Given the description of an element on the screen output the (x, y) to click on. 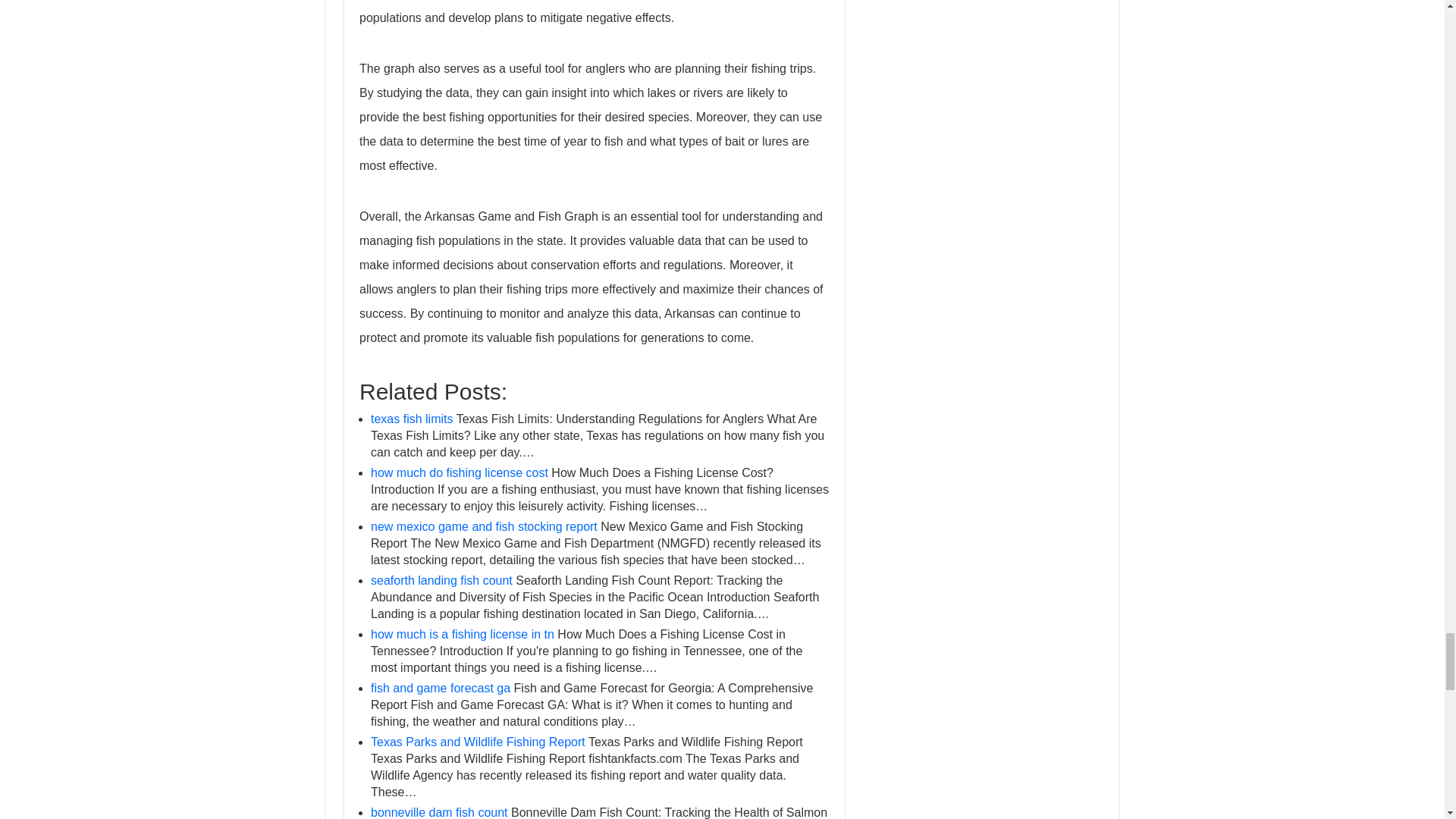
seaforth landing fish count (441, 580)
how much is a fishing license in tn (462, 634)
texas fish limits (411, 418)
fish and game forecast ga (441, 687)
how much do fishing license cost (459, 472)
Texas Parks and Wildlife Fishing Report (478, 741)
bonneville dam fish count (439, 812)
new mexico game and fish stocking report (483, 526)
